Given the description of an element on the screen output the (x, y) to click on. 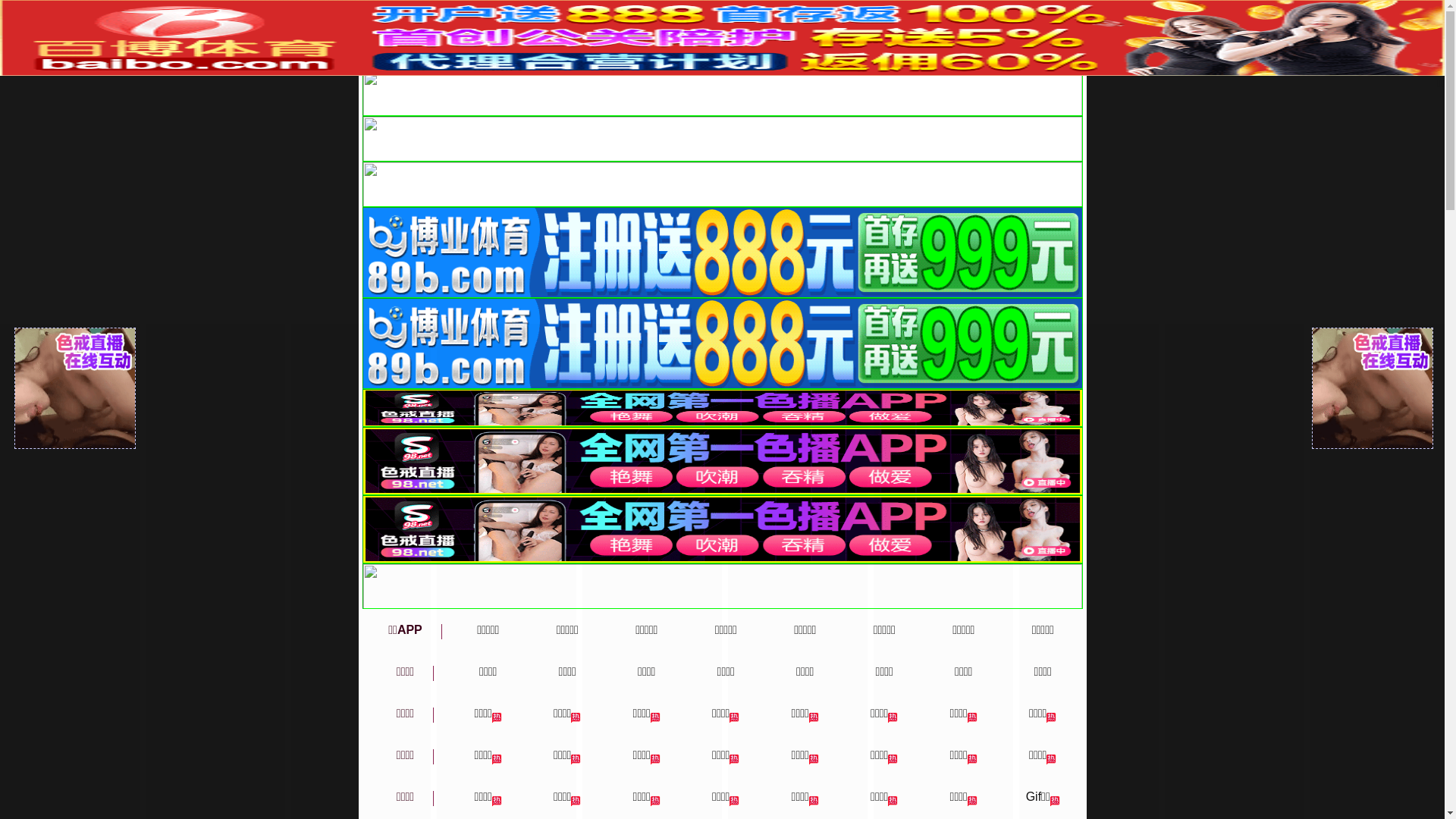
AD Element type: hover (722, 37)
246xs.com Element type: text (418, 34)
